Given the description of an element on the screen output the (x, y) to click on. 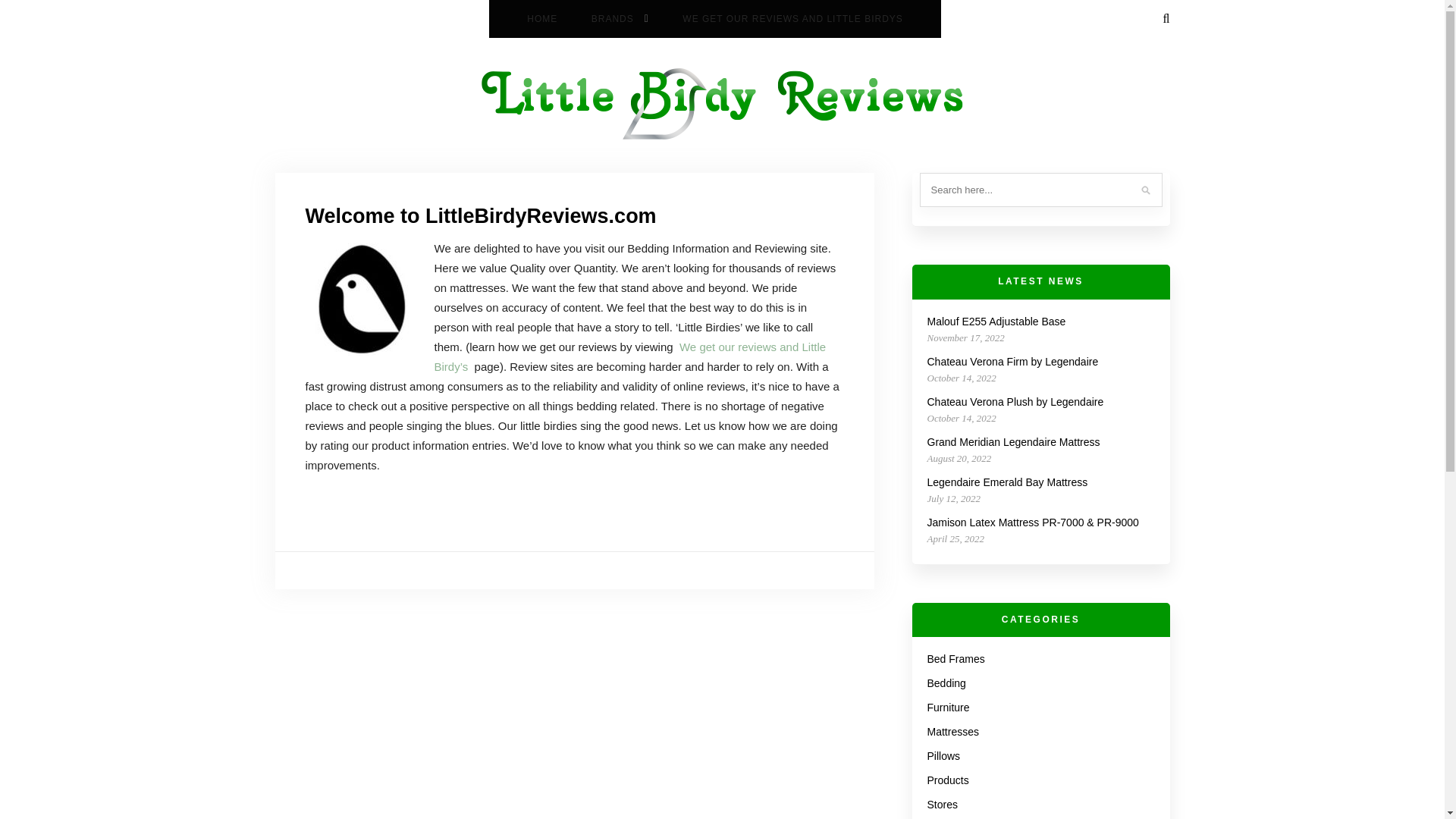
Mattresses (952, 731)
Bed Frames (955, 658)
WE GET OUR REVIEWS AND LITTLE BIRDYS (792, 18)
Furniture (947, 707)
BRANDS (620, 18)
Bedding (945, 683)
Grand Meridian Legendaire Mattress (1012, 441)
Chateau Verona Firm by Legendaire (1011, 361)
Legendaire Emerald Bay Mattress (1006, 481)
Chateau Verona Plush by Legendaire (1014, 401)
